Given the description of an element on the screen output the (x, y) to click on. 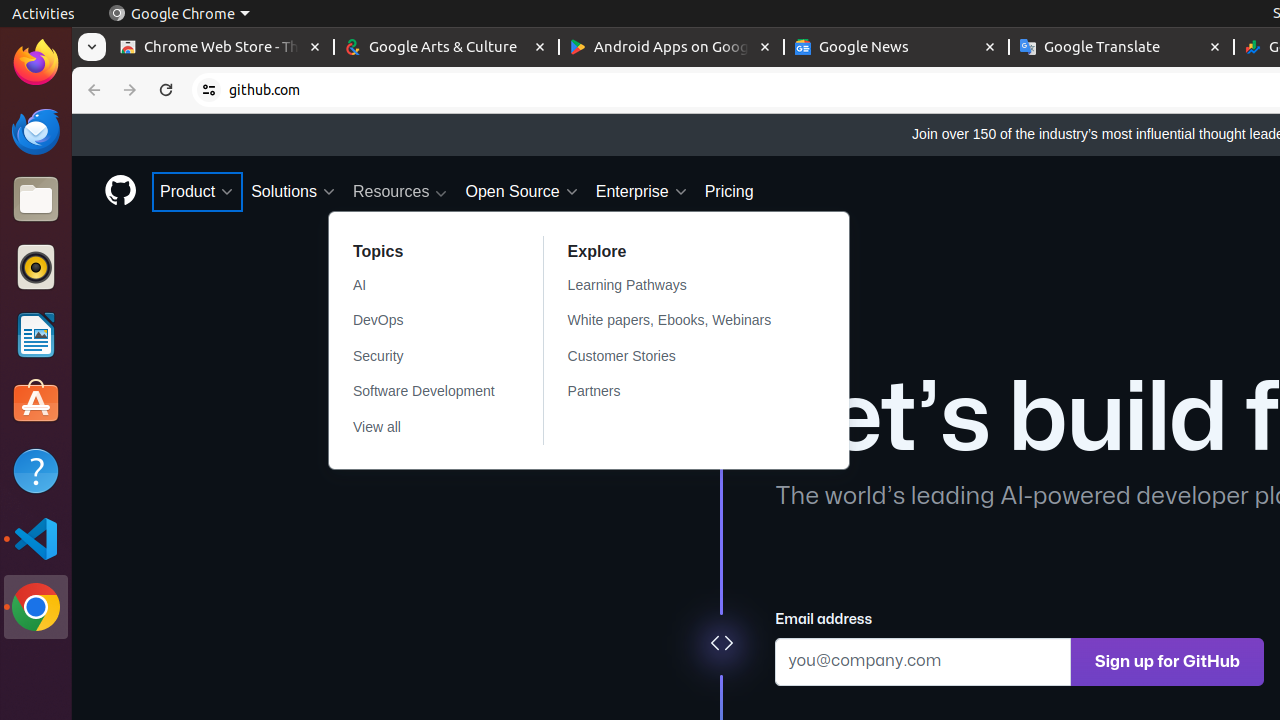
Visual Studio Code Element type: push-button (36, 538)
Learning Pathways Element type: link (681, 285)
View site information Element type: push-button (209, 90)
AI Element type: link (423, 285)
Pricing Element type: link (729, 191)
